Given the description of an element on the screen output the (x, y) to click on. 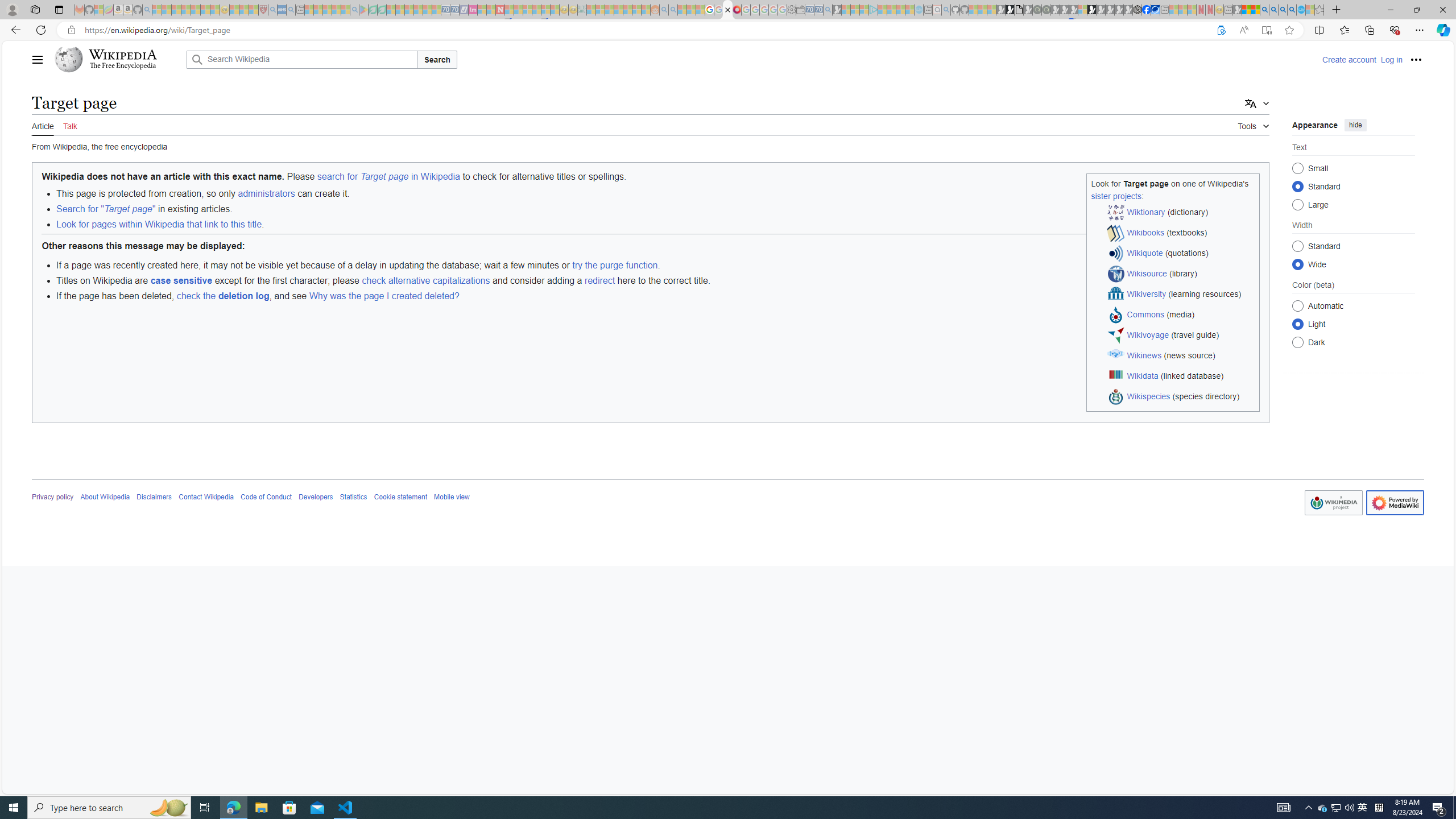
Developers (315, 497)
Talk (69, 124)
Commons (media) (1181, 314)
MSN - Sleeping (1236, 9)
The Weather Channel - MSN - Sleeping (175, 9)
Wikinews (news source) (1181, 355)
14 Common Myths Debunked By Scientific Facts - Sleeping (518, 9)
Wikibooks (1145, 232)
